Given the description of an element on the screen output the (x, y) to click on. 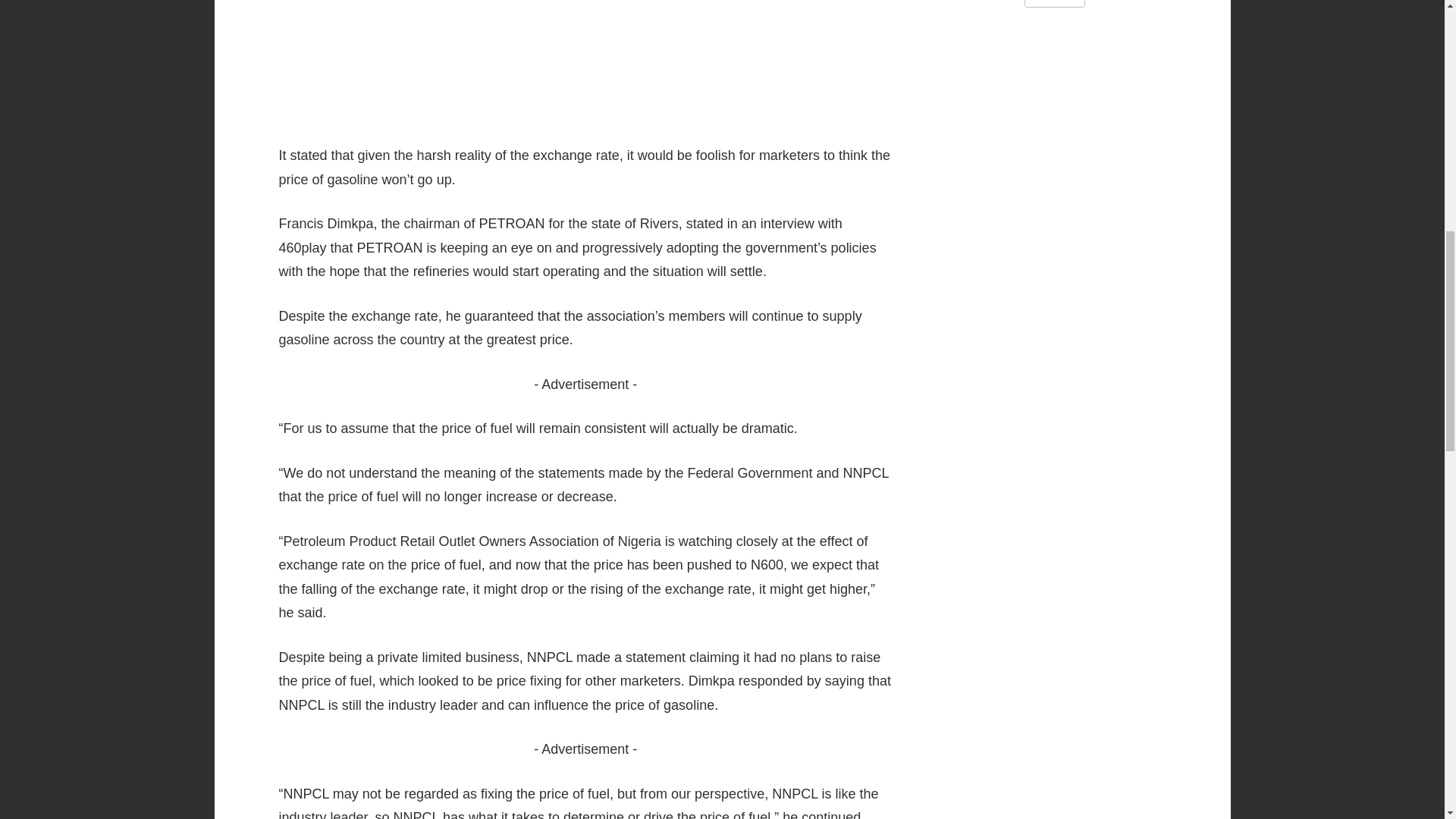
Advertisement (586, 61)
